Given the description of an element on the screen output the (x, y) to click on. 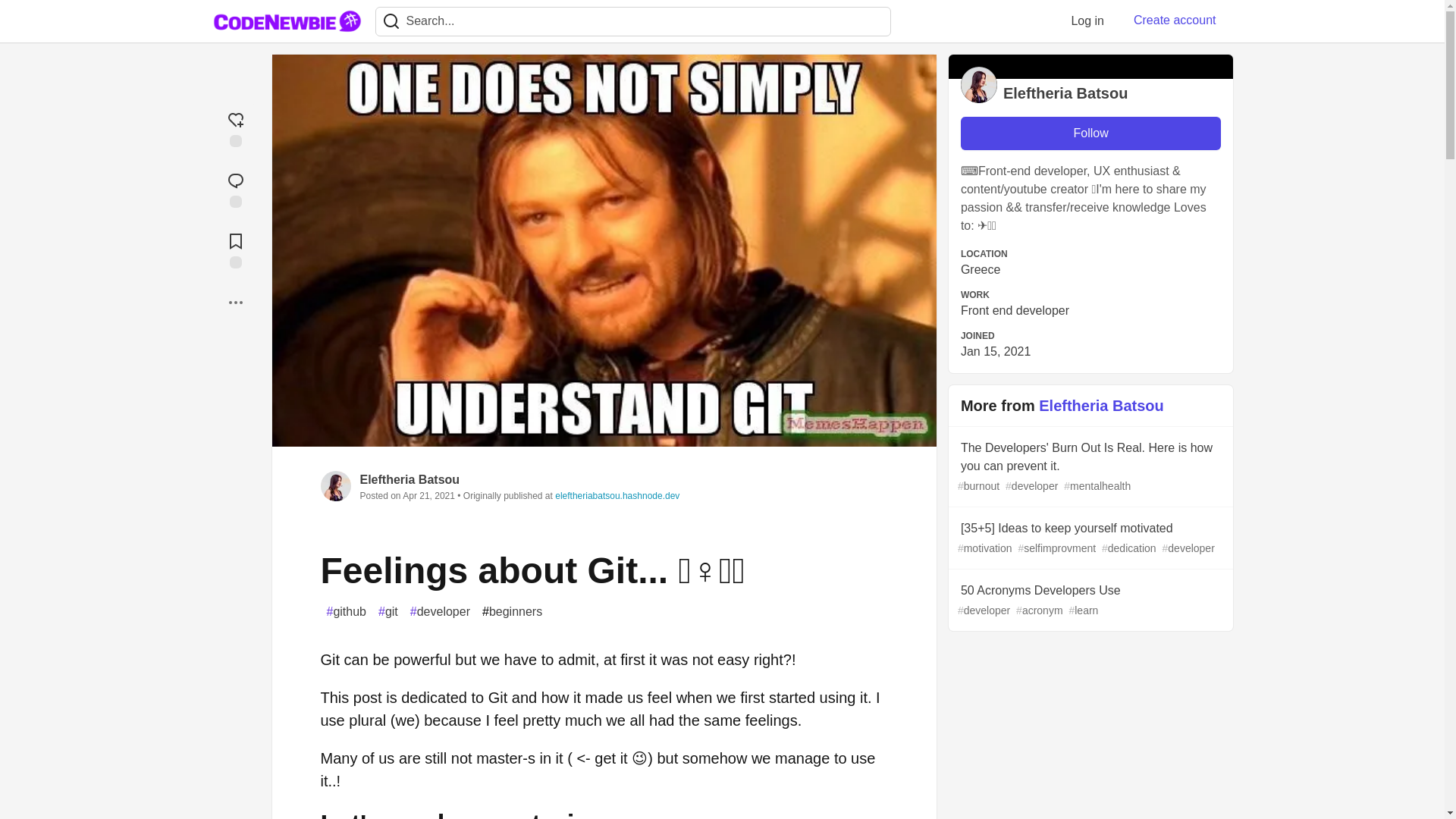
Wednesday, April 21, 2021 at 3:36:18 AM (428, 495)
Create account (1174, 20)
Eleftheria Batsou (409, 479)
Log in (1087, 20)
eleftheriabatsou.hashnode.dev (616, 495)
More... (234, 302)
More... (234, 302)
